Given the description of an element on the screen output the (x, y) to click on. 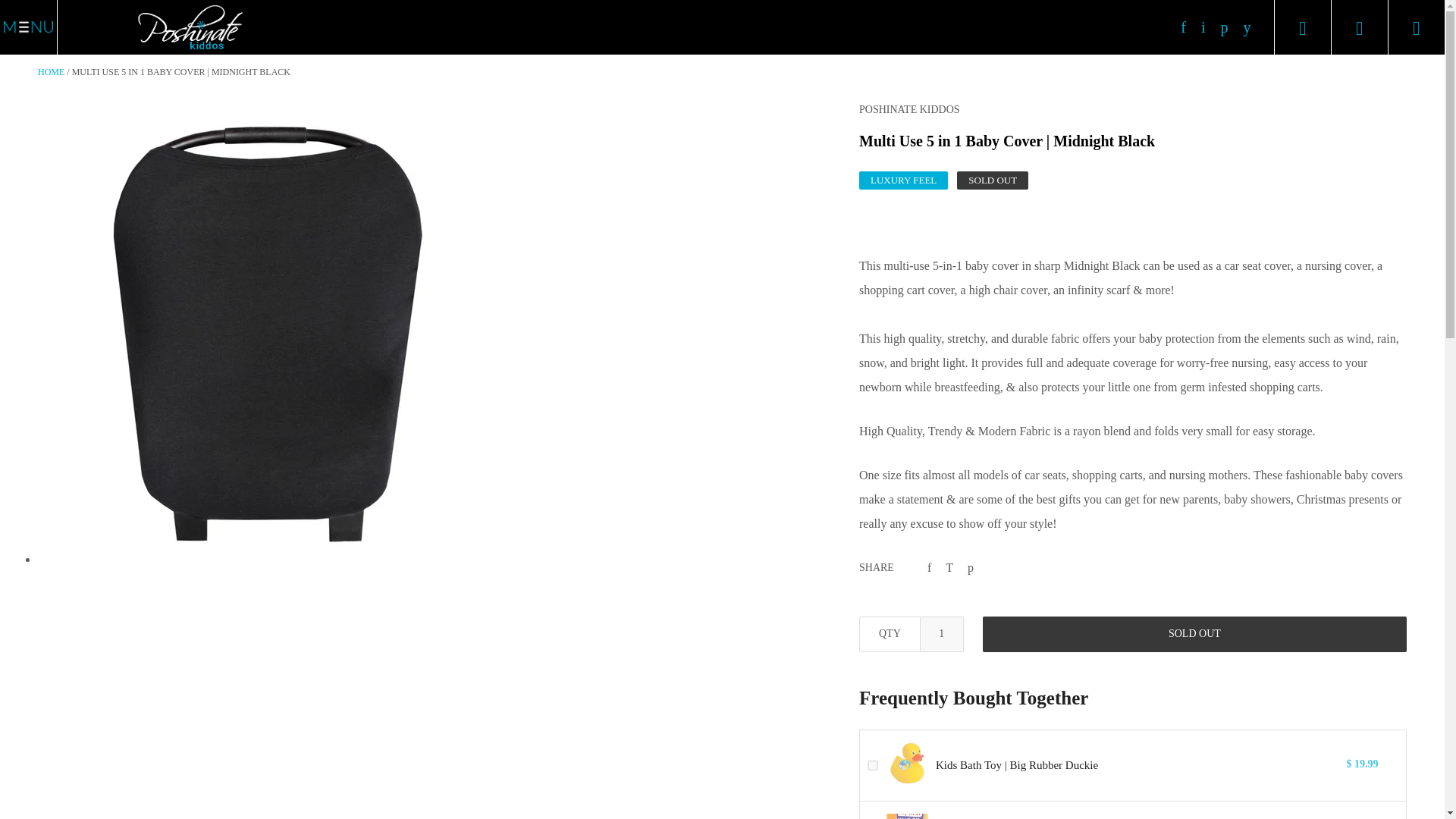
1 (941, 634)
